Given the description of an element on the screen output the (x, y) to click on. 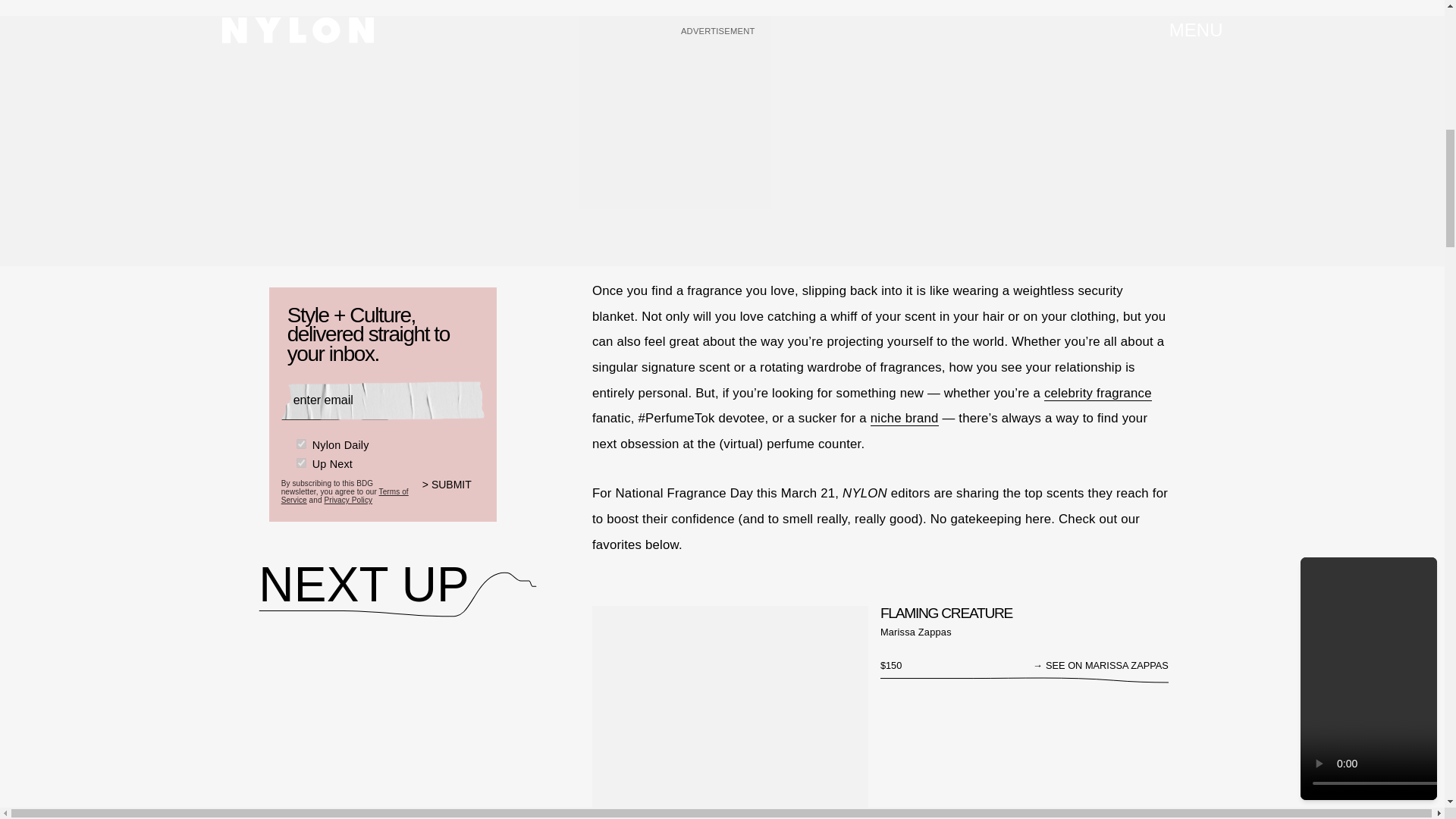
SUBMIT (453, 494)
Privacy Policy (347, 500)
celebrity fragrance (1097, 393)
Terms of Service (345, 495)
niche brand (904, 418)
